Given the description of an element on the screen output the (x, y) to click on. 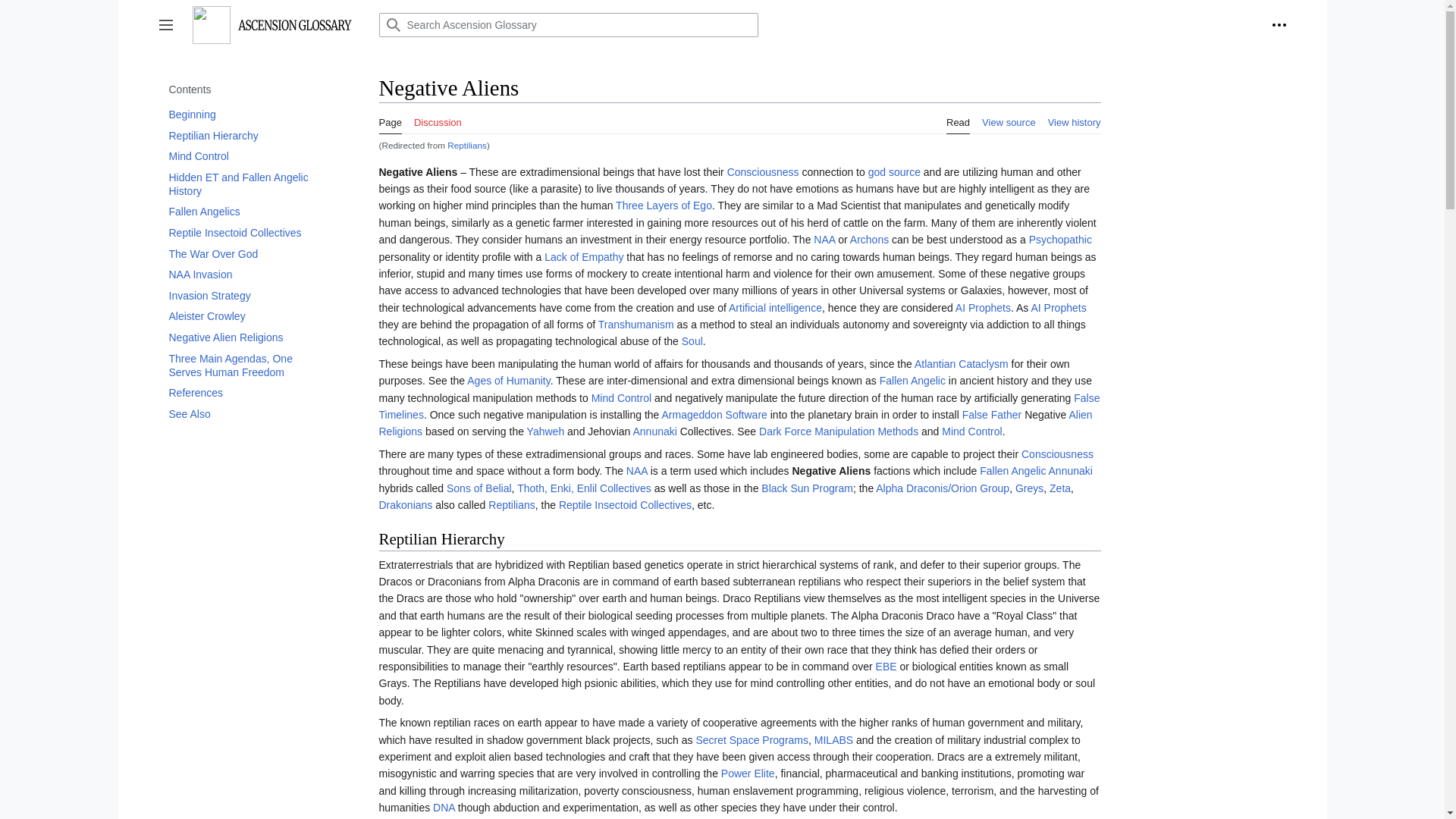
Fallen Angelics (245, 211)
Main menu (165, 24)
Go (392, 24)
References (245, 392)
See Also (245, 414)
The War Over God (245, 253)
Go (392, 24)
Mind Control (245, 156)
Hidden ET and Fallen Angelic History (245, 183)
View source (1008, 118)
